Given the description of an element on the screen output the (x, y) to click on. 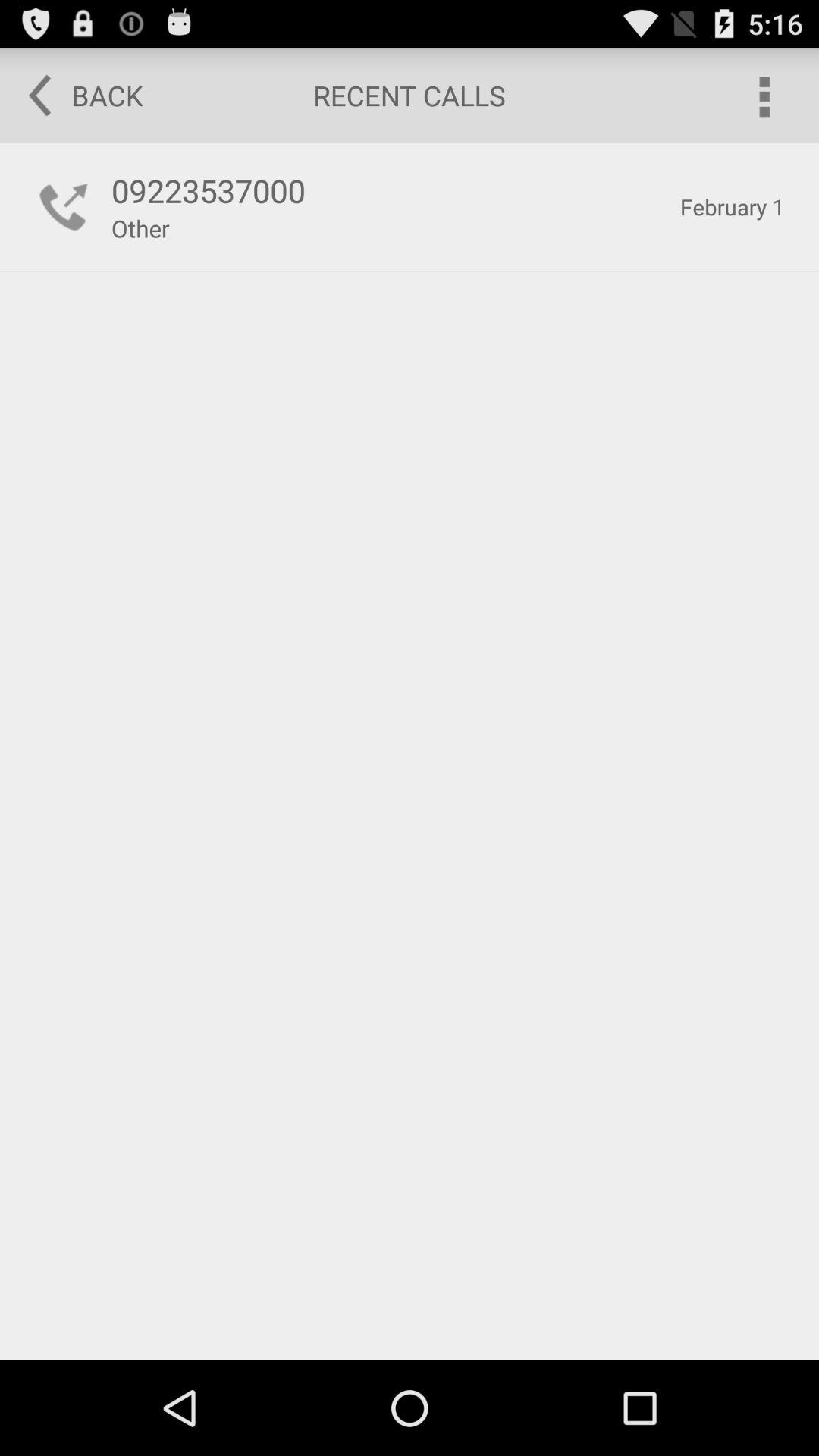
turn on icon below 09223537000 app (140, 228)
